Given the description of an element on the screen output the (x, y) to click on. 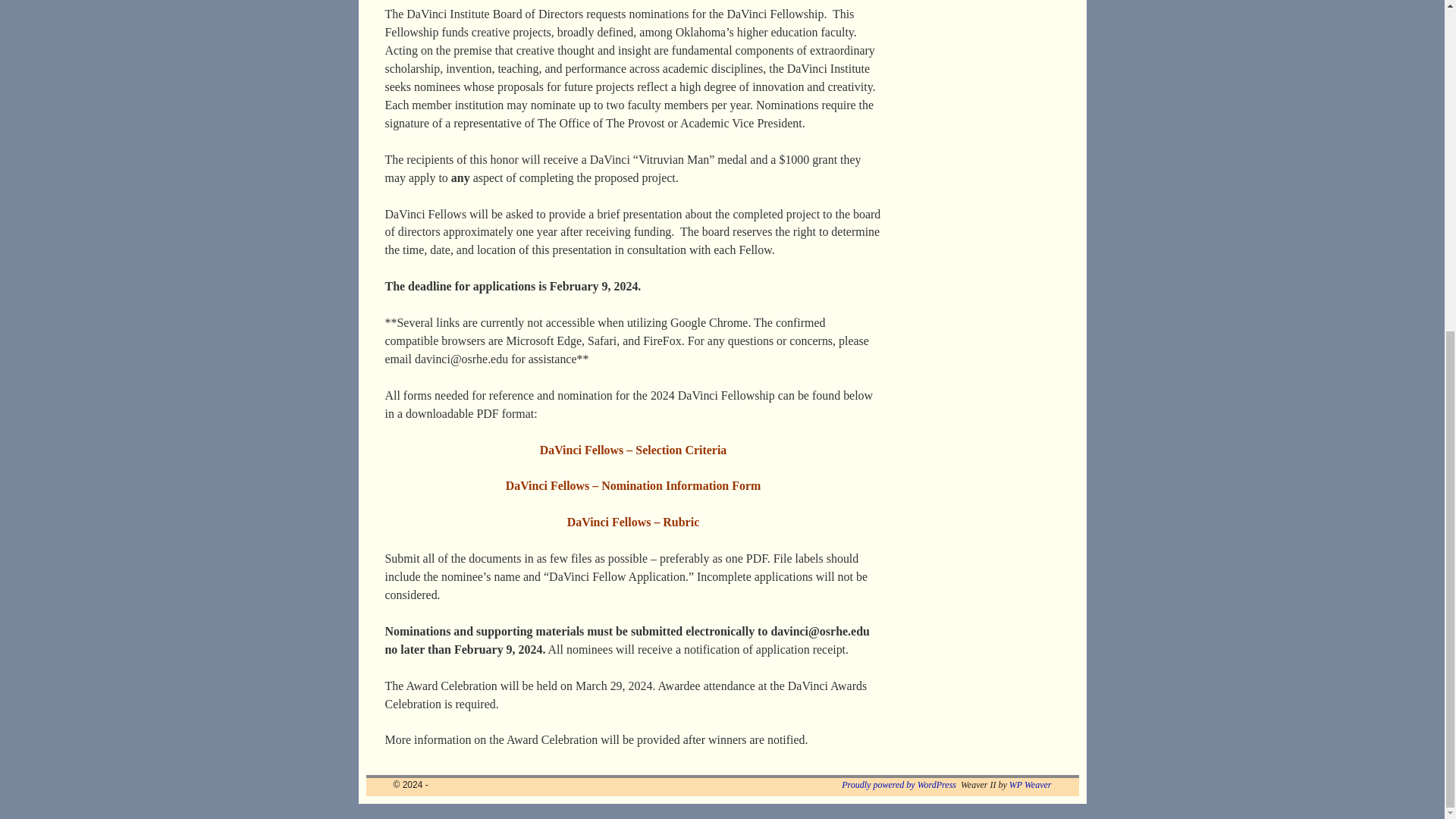
Proudly powered by WordPress (898, 784)
WP Weaver (1030, 784)
wordpress.org (898, 784)
